Given the description of an element on the screen output the (x, y) to click on. 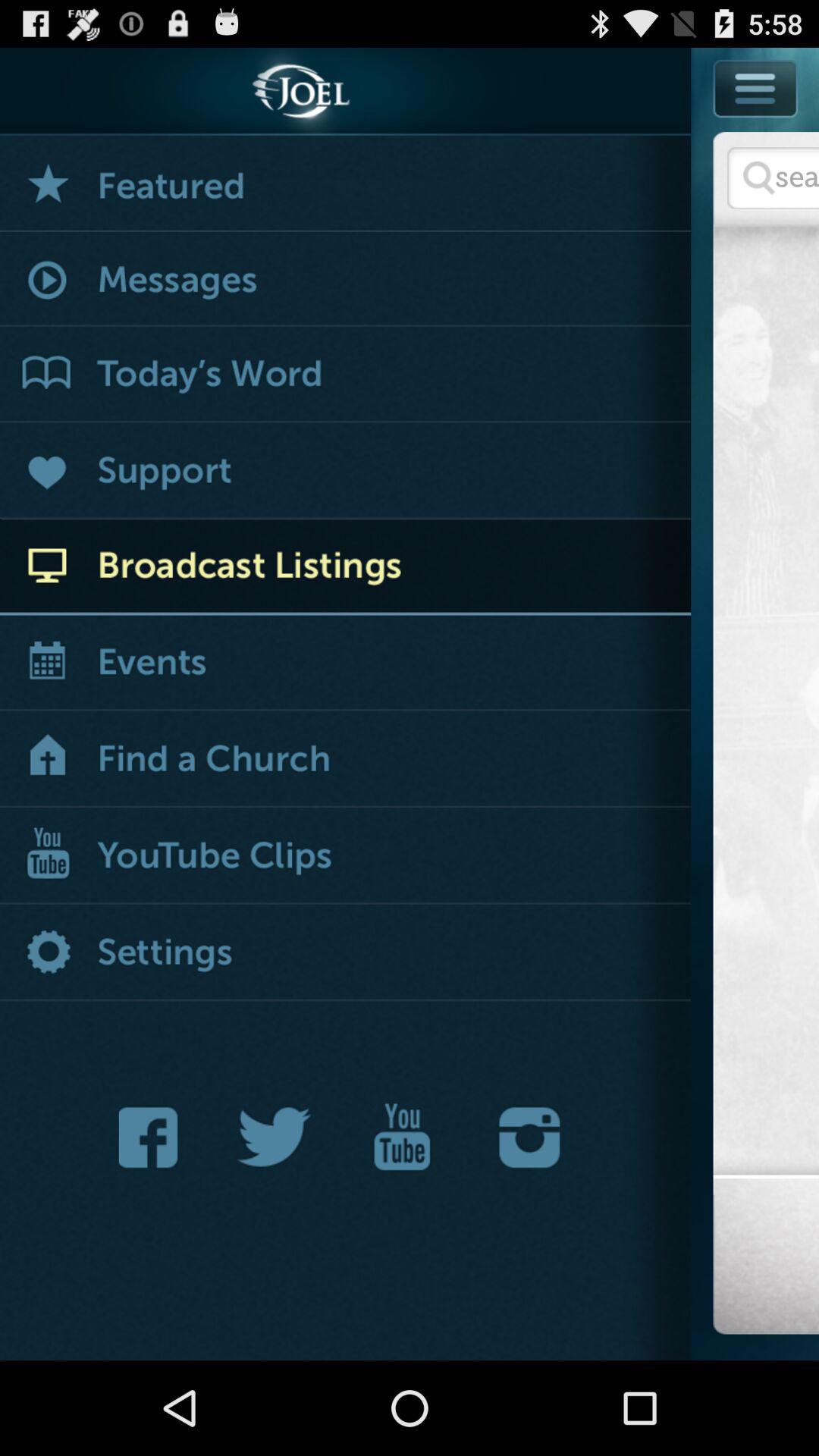
open option menu (755, 122)
